Given the description of an element on the screen output the (x, y) to click on. 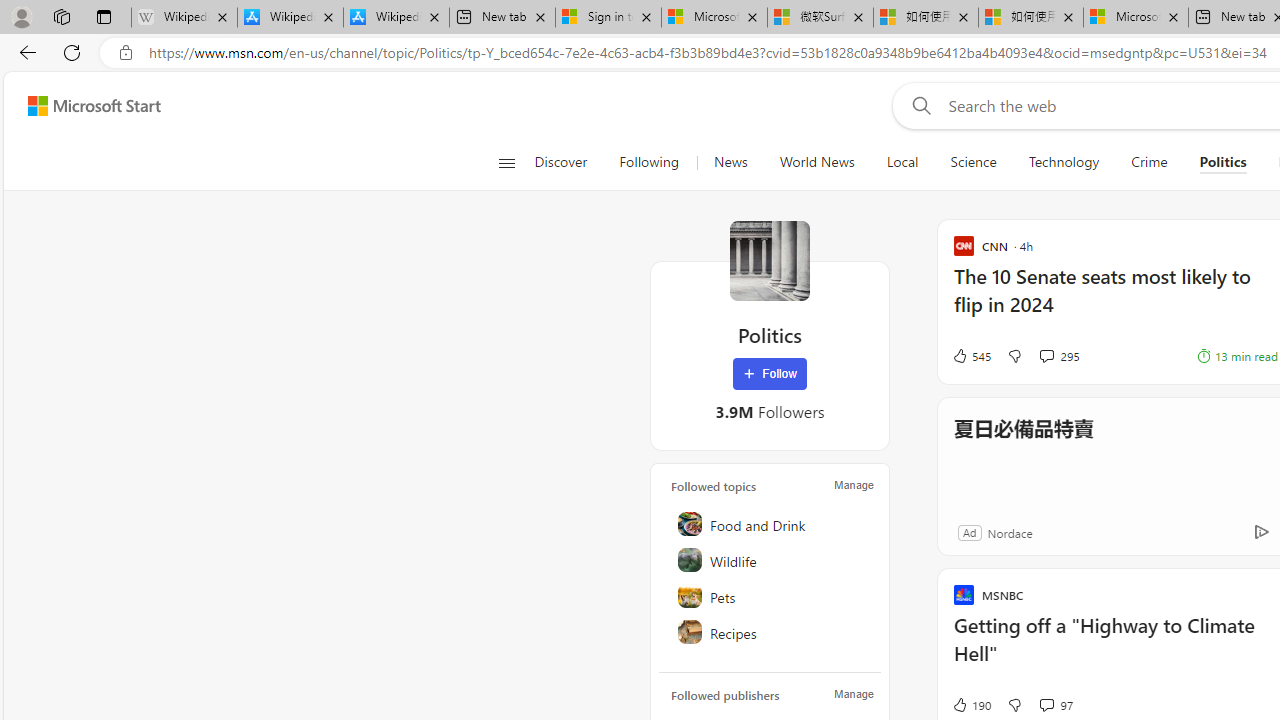
545 Like (970, 355)
Food and Drink (771, 524)
